Given the description of an element on the screen output the (x, y) to click on. 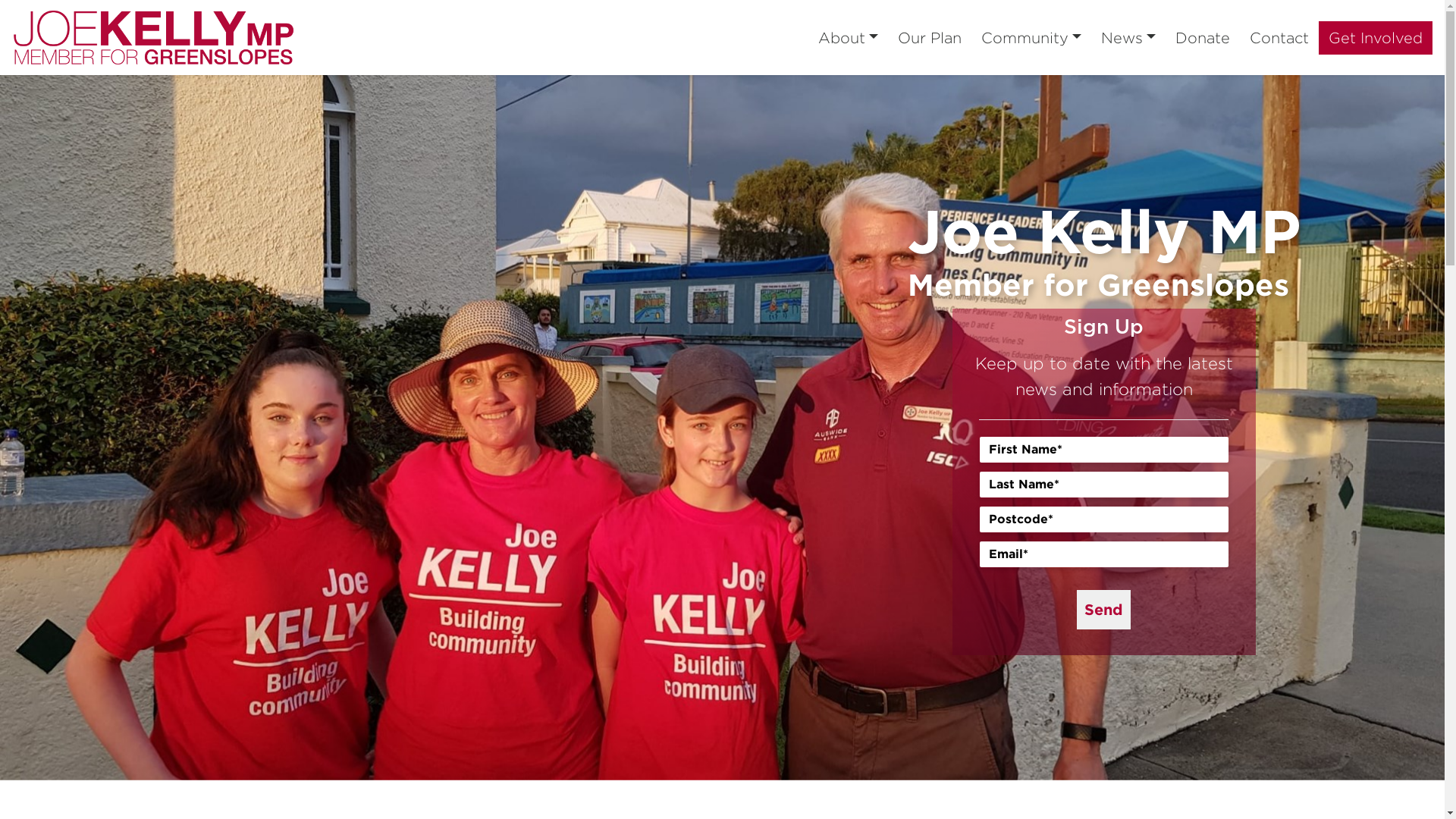
Send Element type: text (1103, 608)
News Element type: text (1128, 37)
Next Element type: text (1335, 427)
Our Plan Element type: text (929, 37)
Community Element type: text (1031, 37)
Donate Element type: text (1202, 37)
About Element type: text (848, 37)
Contact Element type: text (1278, 37)
Get Involved Element type: text (1375, 37)
Previous Element type: text (108, 427)
